Given the description of an element on the screen output the (x, y) to click on. 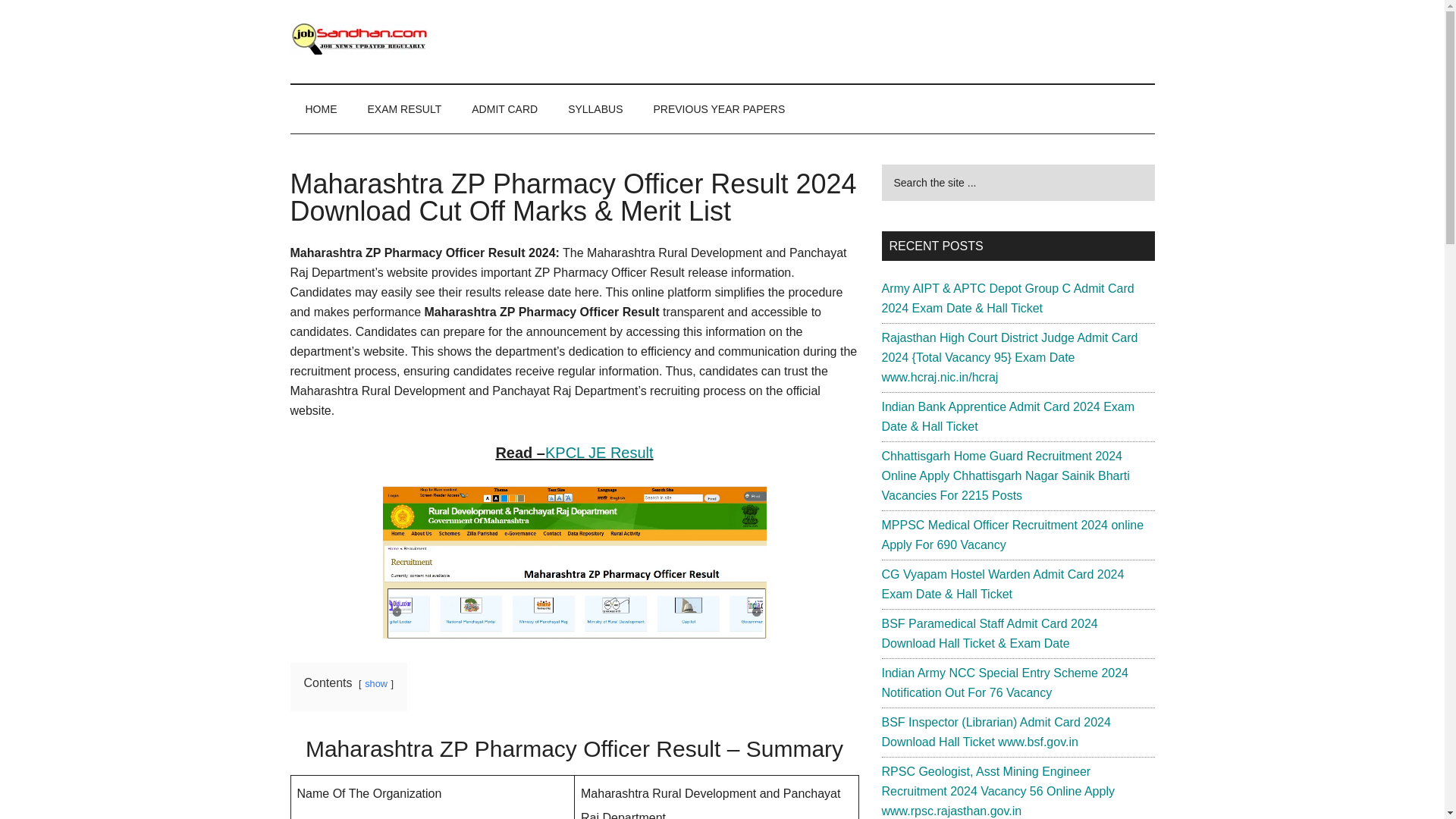
SYLLABUS (595, 109)
HOME (320, 109)
EXAM RESULT (404, 109)
KPCL JE Result (598, 452)
ADMIT CARD (505, 109)
